Given the description of an element on the screen output the (x, y) to click on. 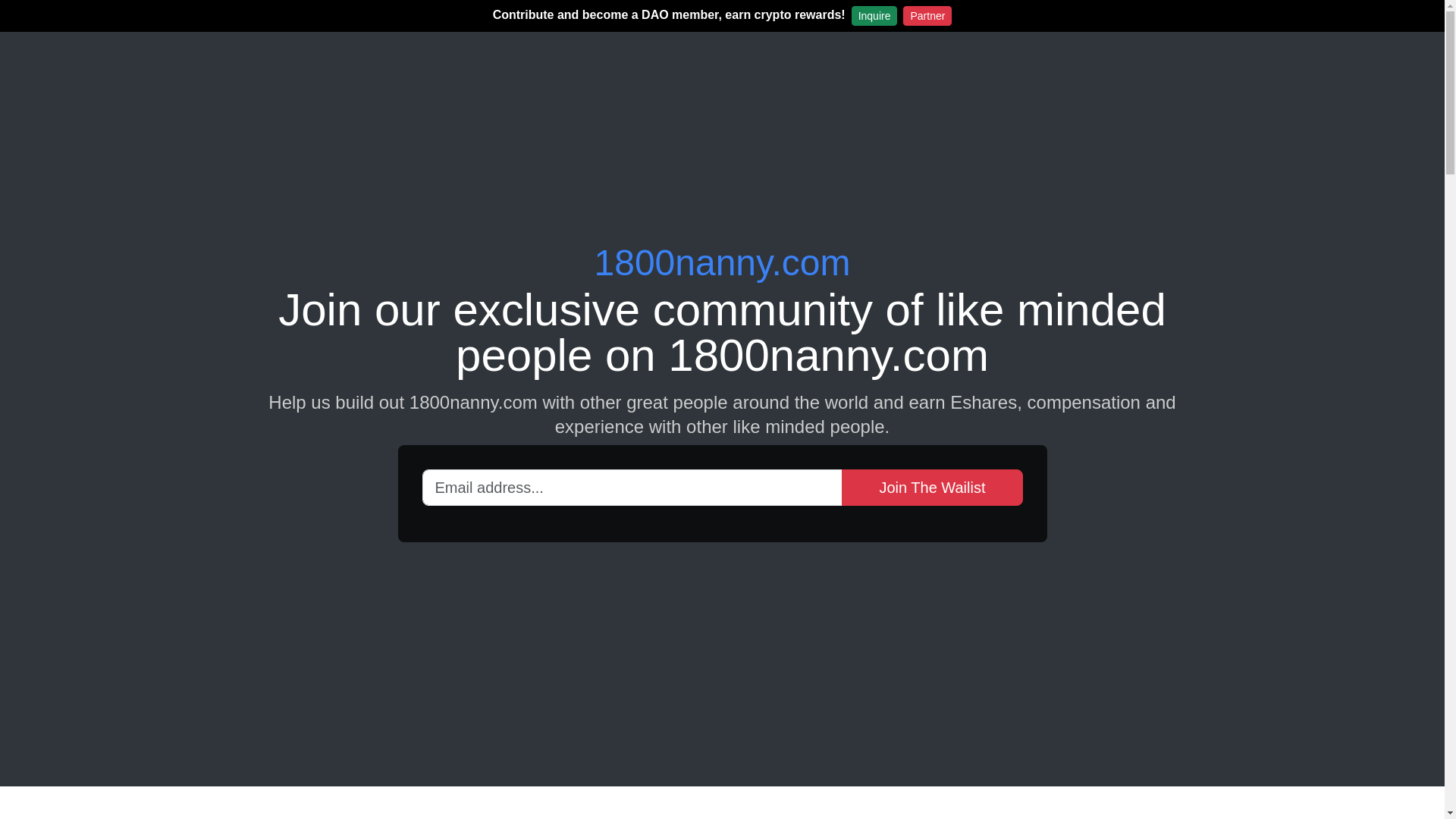
Partner Element type: text (927, 15)
Join The Wailist Element type: text (931, 486)
Inquire Element type: text (874, 15)
